Given the description of an element on the screen output the (x, y) to click on. 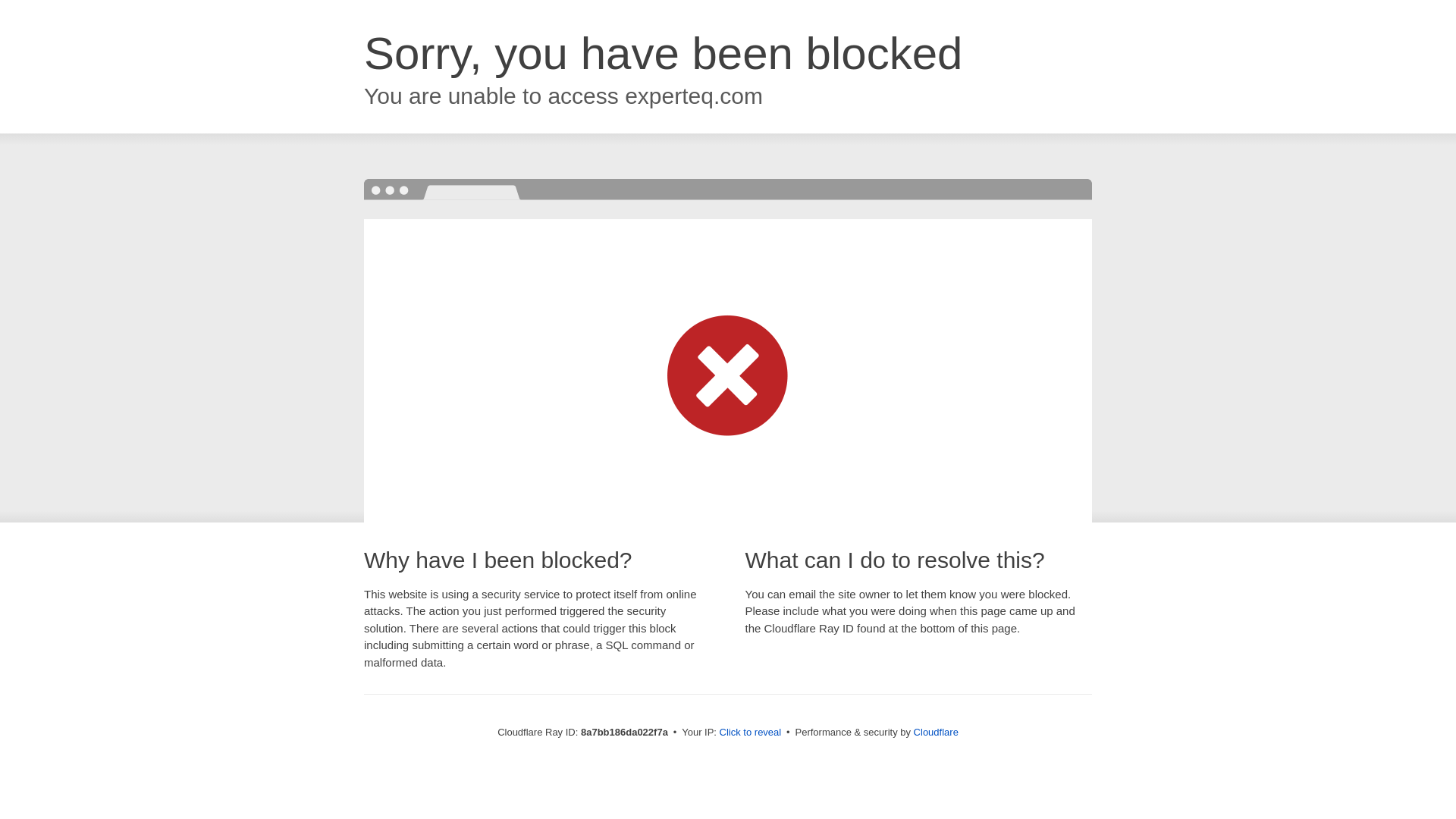
Click to reveal (750, 732)
Cloudflare (936, 731)
